Given the description of an element on the screen output the (x, y) to click on. 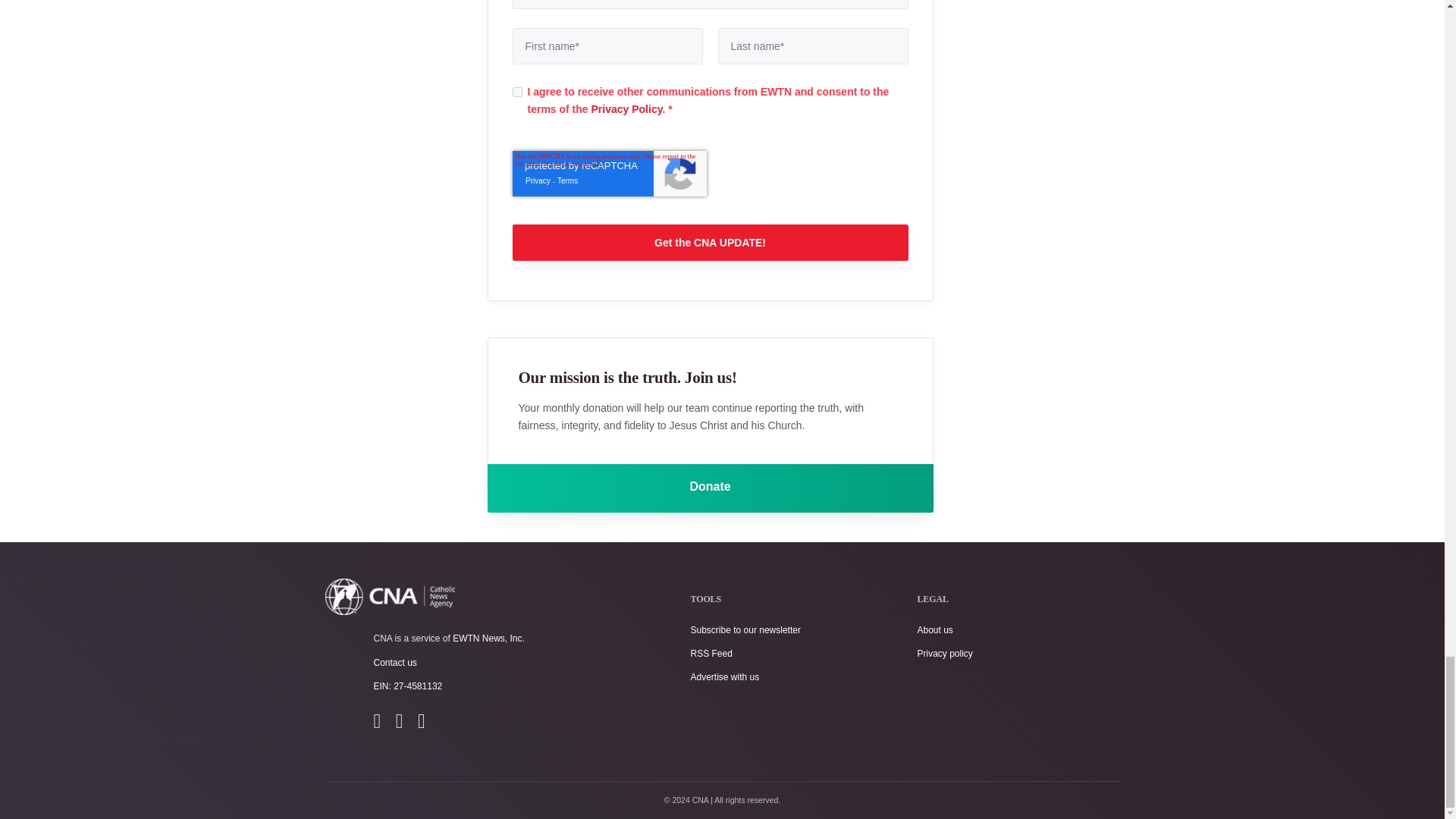
Get the CNA UPDATE! (710, 242)
true (517, 91)
reCAPTCHA (609, 173)
